Given the description of an element on the screen output the (x, y) to click on. 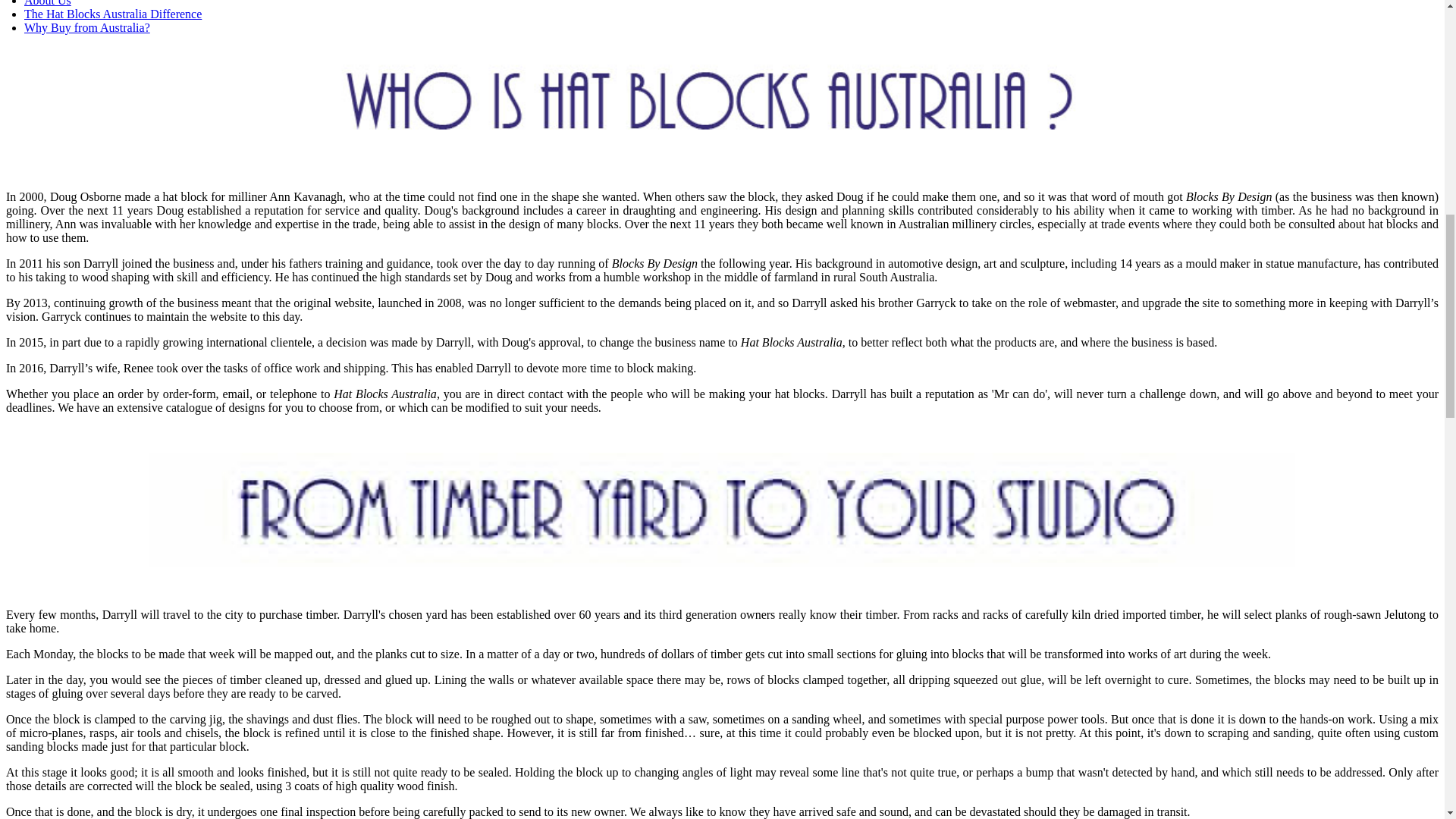
About Us (47, 3)
Why Buy from Australia? (86, 27)
The Hat Blocks Australia Difference (113, 13)
